Given the description of an element on the screen output the (x, y) to click on. 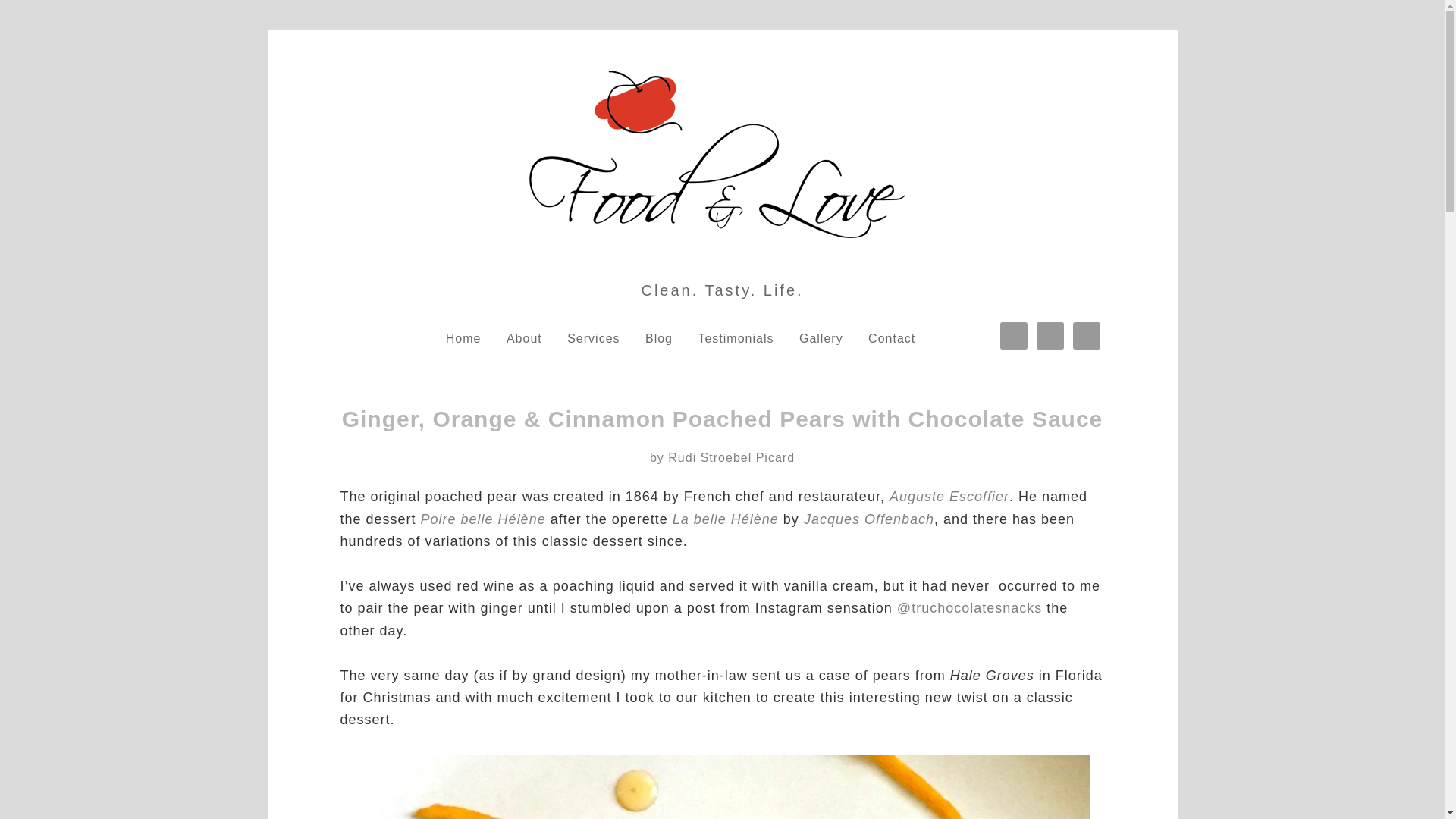
Contact (891, 338)
Blog (658, 338)
Auguste Escoffier (949, 496)
Home (463, 338)
Jacques Offenbach (868, 519)
Hale Groves (991, 675)
Testimonials (735, 338)
Gallery (821, 338)
Services (593, 338)
About (524, 338)
